Given the description of an element on the screen output the (x, y) to click on. 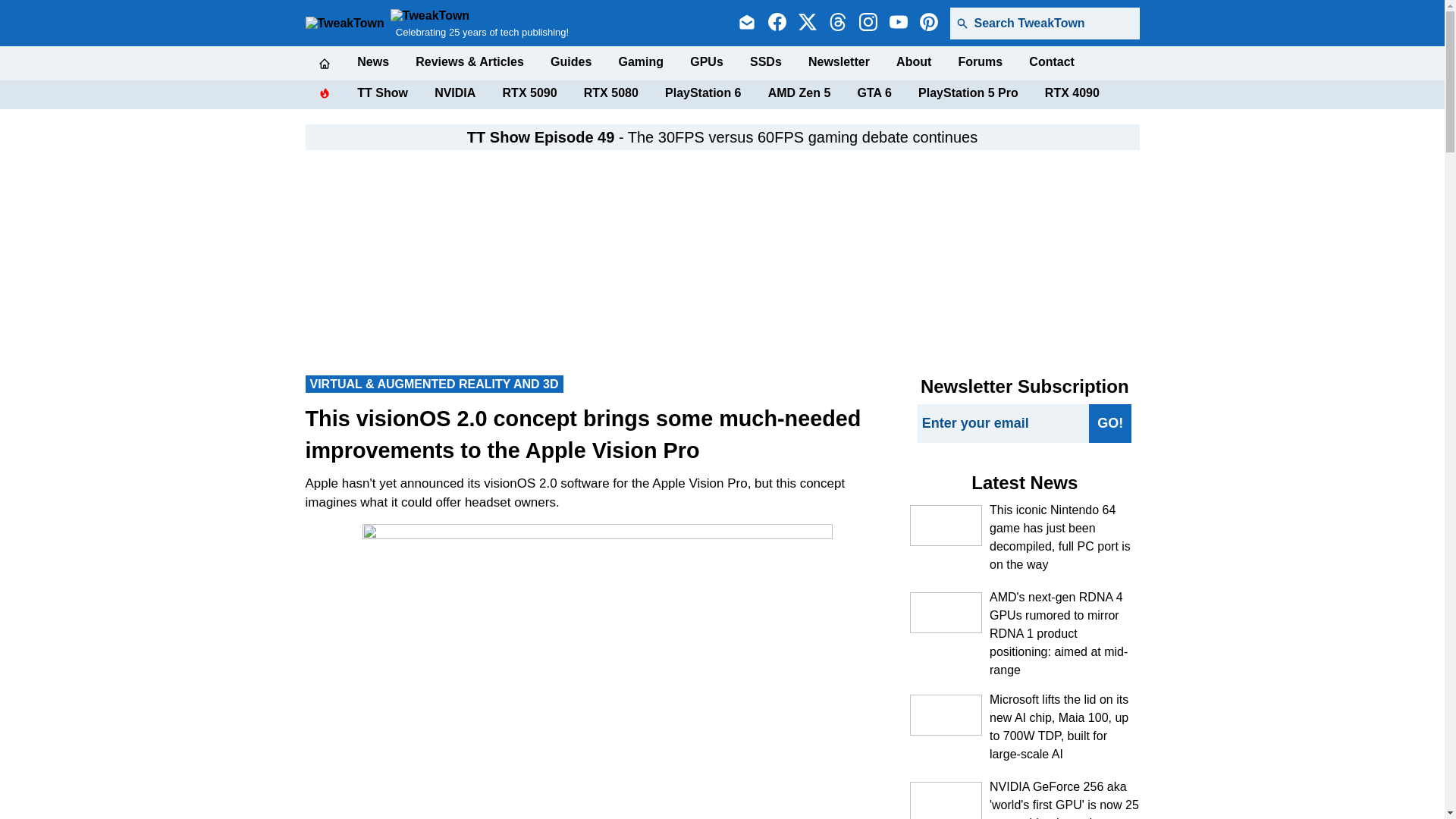
GO! (1110, 423)
Celebrating 25 years of tech publishing! (479, 22)
News (372, 61)
